Given the description of an element on the screen output the (x, y) to click on. 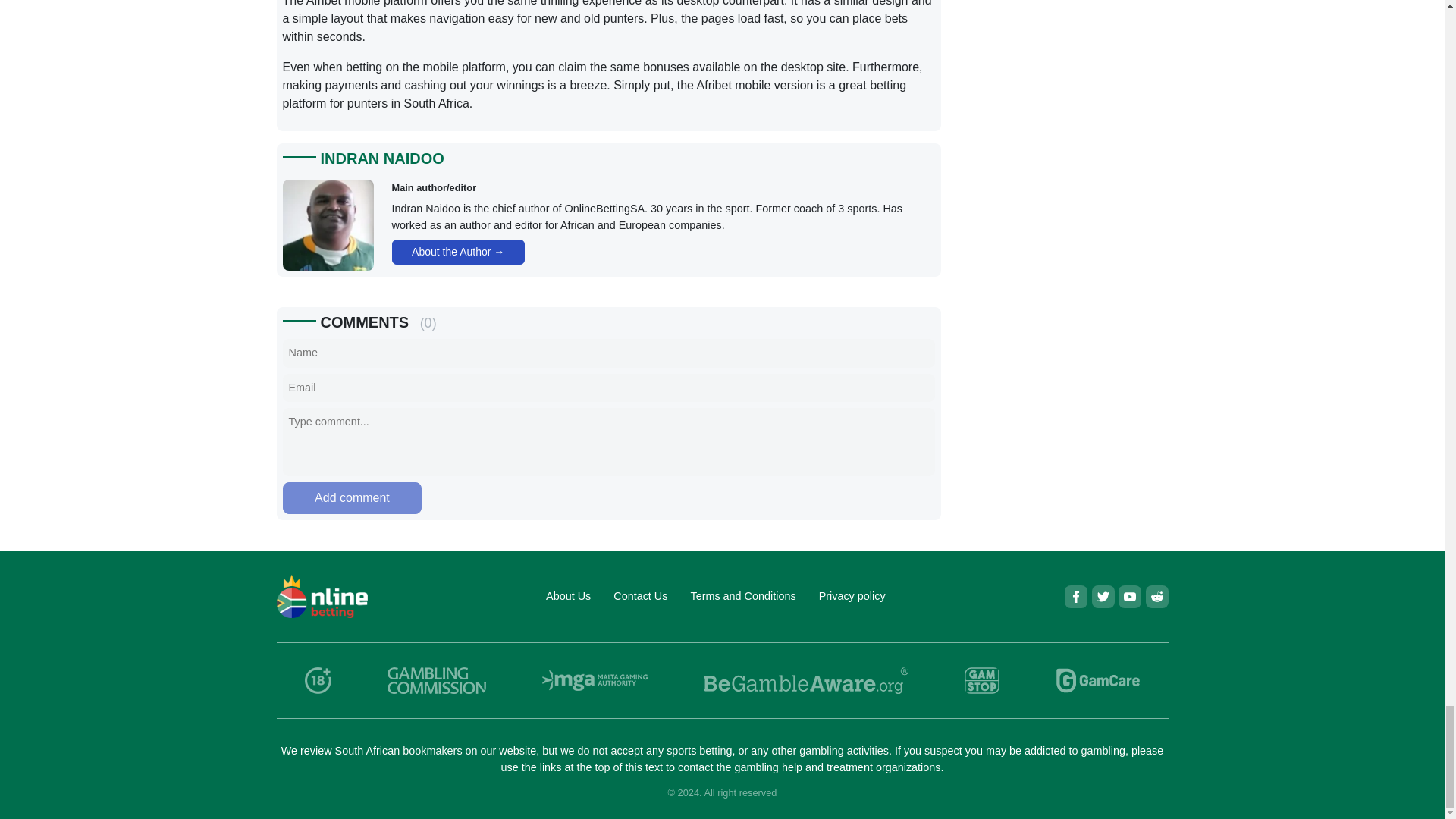
Twitter (1103, 596)
YouTube (1129, 596)
Facebook (1075, 596)
Reddit (1155, 596)
